Given the description of an element on the screen output the (x, y) to click on. 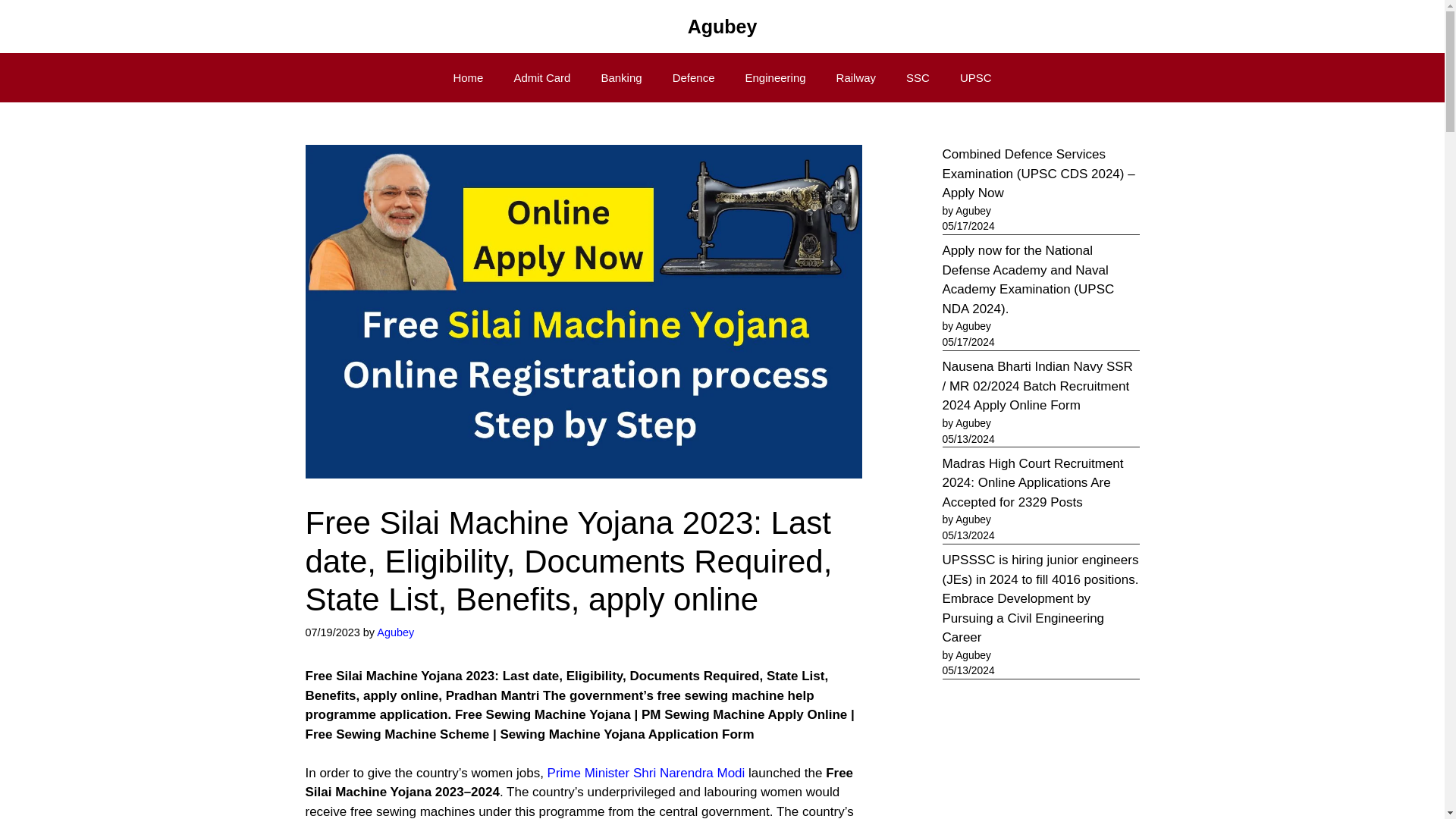
SSC (917, 77)
View all posts by Agubey (395, 632)
Railway (856, 77)
Defence (694, 77)
UPSC (975, 77)
Engineering (775, 77)
Agubey (395, 632)
Admit Card (541, 77)
Home (467, 77)
Prime Minister Shri Narendra Modi (646, 772)
Banking (620, 77)
Agubey (722, 25)
